Given the description of an element on the screen output the (x, y) to click on. 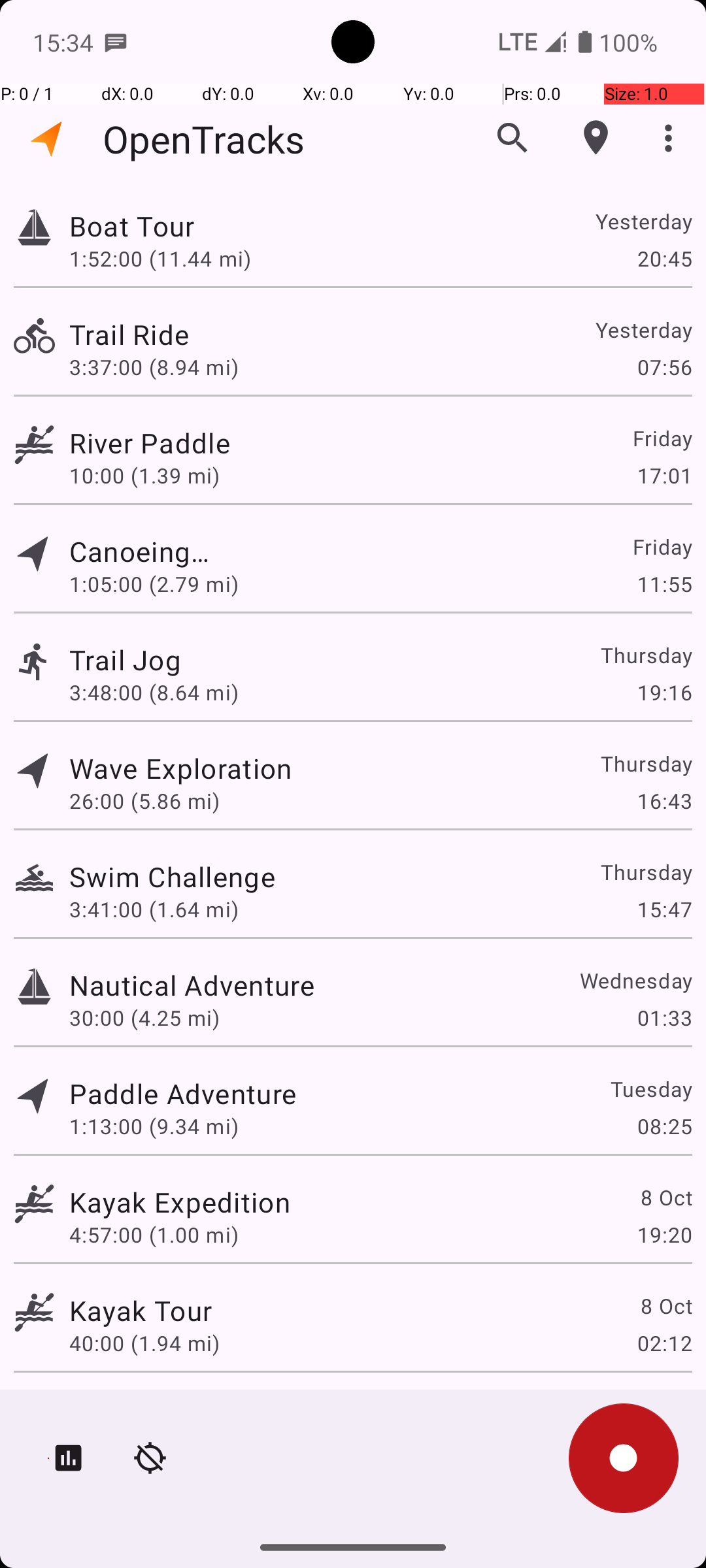
Boat Tour Element type: android.widget.TextView (191, 225)
1:52:00 (11.44 mi) Element type: android.widget.TextView (159, 258)
20:45 Element type: android.widget.TextView (664, 258)
Trail Ride Element type: android.widget.TextView (182, 333)
3:37:00 (8.94 mi) Element type: android.widget.TextView (153, 366)
07:56 Element type: android.widget.TextView (664, 366)
River Paddle Element type: android.widget.TextView (179, 442)
10:00 (1.39 mi) Element type: android.widget.TextView (153, 475)
17:01 Element type: android.widget.TextView (664, 475)
Canoeing Adventure Element type: android.widget.TextView (140, 550)
1:05:00 (2.79 mi) Element type: android.widget.TextView (153, 583)
11:55 Element type: android.widget.TextView (664, 583)
Trail Jog Element type: android.widget.TextView (182, 659)
3:48:00 (8.64 mi) Element type: android.widget.TextView (153, 692)
19:16 Element type: android.widget.TextView (664, 692)
Wave Exploration Element type: android.widget.TextView (180, 767)
26:00 (5.86 mi) Element type: android.widget.TextView (144, 800)
16:43 Element type: android.widget.TextView (664, 800)
Swim Challenge Element type: android.widget.TextView (171, 876)
3:41:00 (1.64 mi) Element type: android.widget.TextView (153, 909)
15:47 Element type: android.widget.TextView (664, 909)
Nautical Adventure Element type: android.widget.TextView (191, 984)
30:00 (4.25 mi) Element type: android.widget.TextView (144, 1017)
01:33 Element type: android.widget.TextView (664, 1017)
Paddle Adventure Element type: android.widget.TextView (182, 1092)
1:13:00 (9.34 mi) Element type: android.widget.TextView (153, 1125)
08:25 Element type: android.widget.TextView (664, 1125)
Kayak Expedition Element type: android.widget.TextView (179, 1201)
4:57:00 (1.00 mi) Element type: android.widget.TextView (153, 1234)
19:20 Element type: android.widget.TextView (664, 1234)
Kayak Tour Element type: android.widget.TextView (140, 1309)
40:00 (1.94 mi) Element type: android.widget.TextView (144, 1342)
02:12 Element type: android.widget.TextView (664, 1342)
Freestyle Session Element type: android.widget.TextView (182, 1408)
6 Oct Element type: android.widget.TextView (665, 1408)
